Given the description of an element on the screen output the (x, y) to click on. 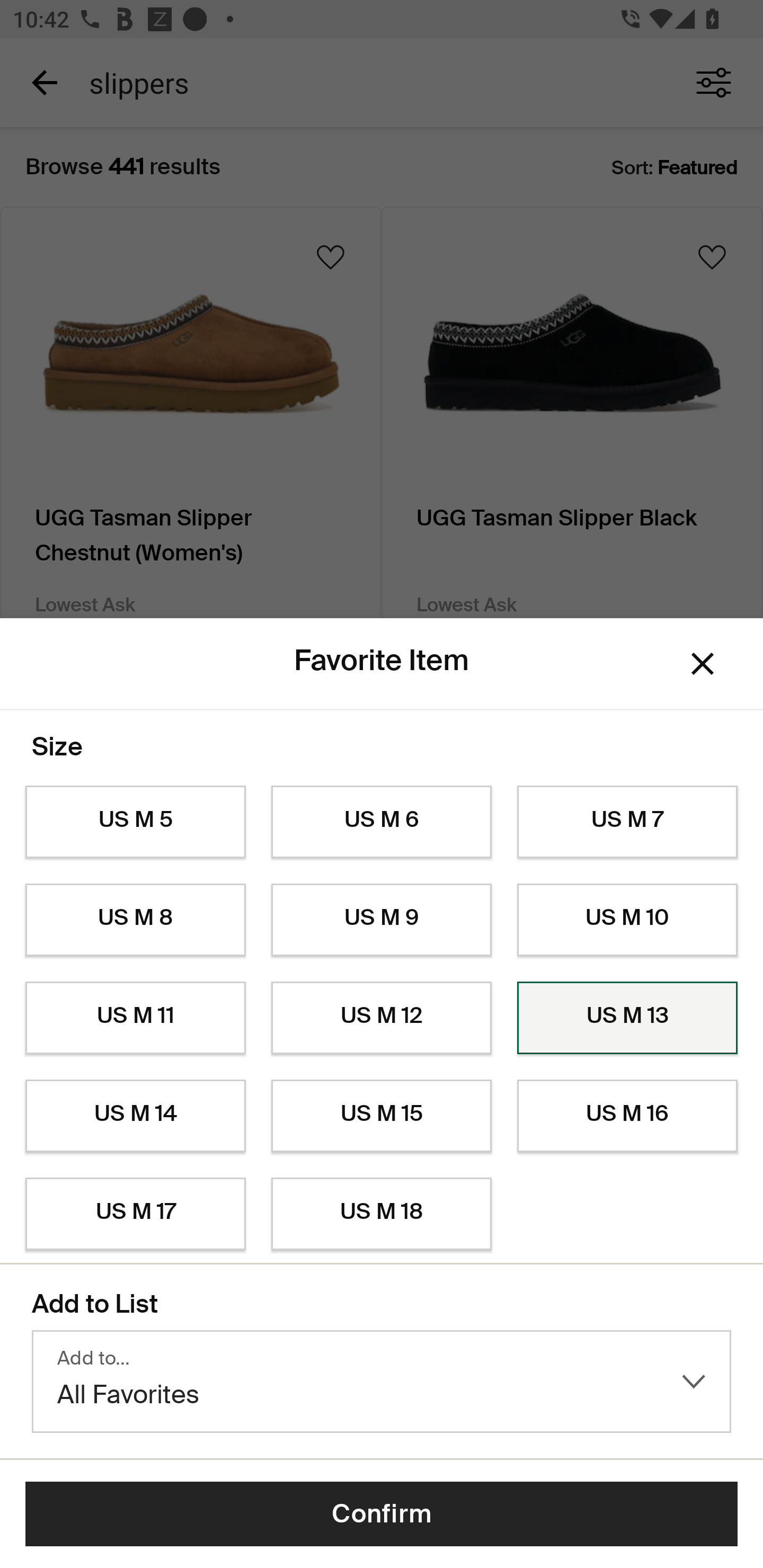
Dismiss (702, 663)
US M 5 (135, 822)
US M 6 (381, 822)
US M 7 (627, 822)
US M 8 (135, 919)
US M 9 (381, 919)
US M 10 (627, 919)
US M 11 (135, 1018)
US M 12 (381, 1018)
US M 13 (627, 1018)
US M 14 (135, 1116)
US M 15 (381, 1116)
US M 16 (627, 1116)
US M 17 (135, 1214)
US M 18 (381, 1214)
Add to… All Favorites (381, 1381)
Confirm (381, 1513)
